Given the description of an element on the screen output the (x, y) to click on. 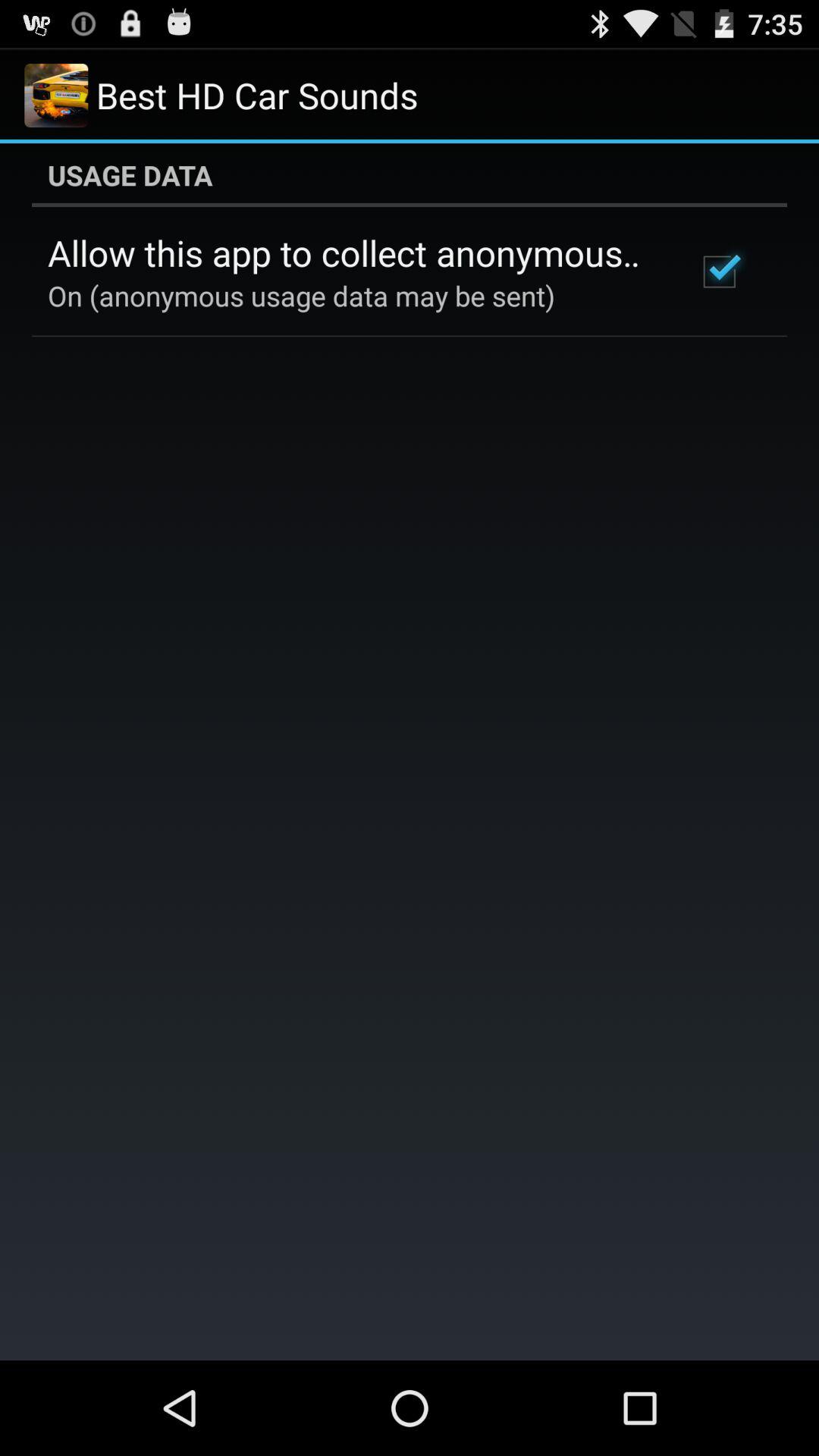
select the icon at the top right corner (719, 271)
